Given the description of an element on the screen output the (x, y) to click on. 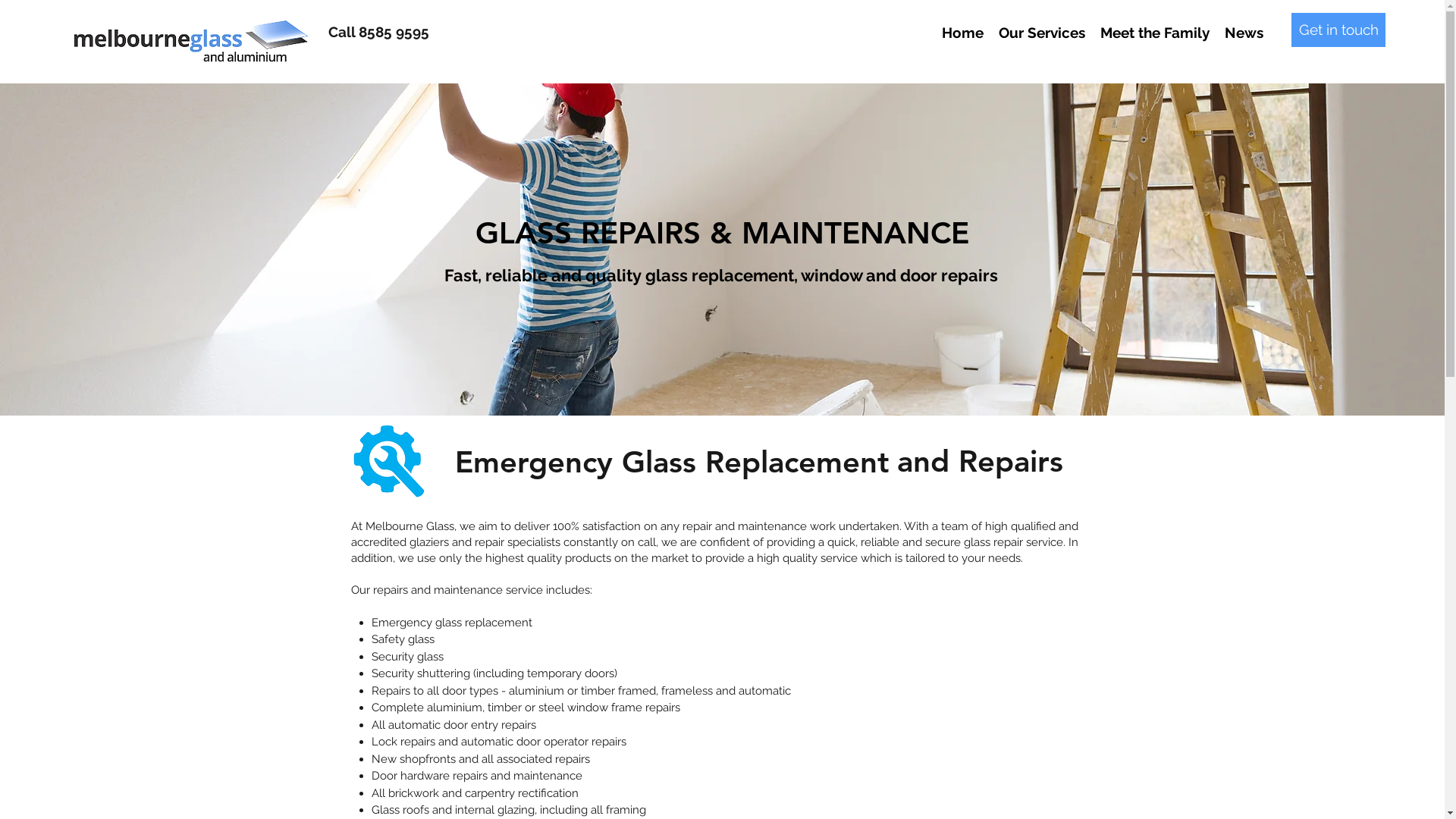
News Element type: text (1243, 32)
Our Services Element type: text (1041, 32)
Meet the Family Element type: text (1154, 32)
Home Element type: text (962, 32)
Get in touch Element type: text (1338, 29)
